Given the description of an element on the screen output the (x, y) to click on. 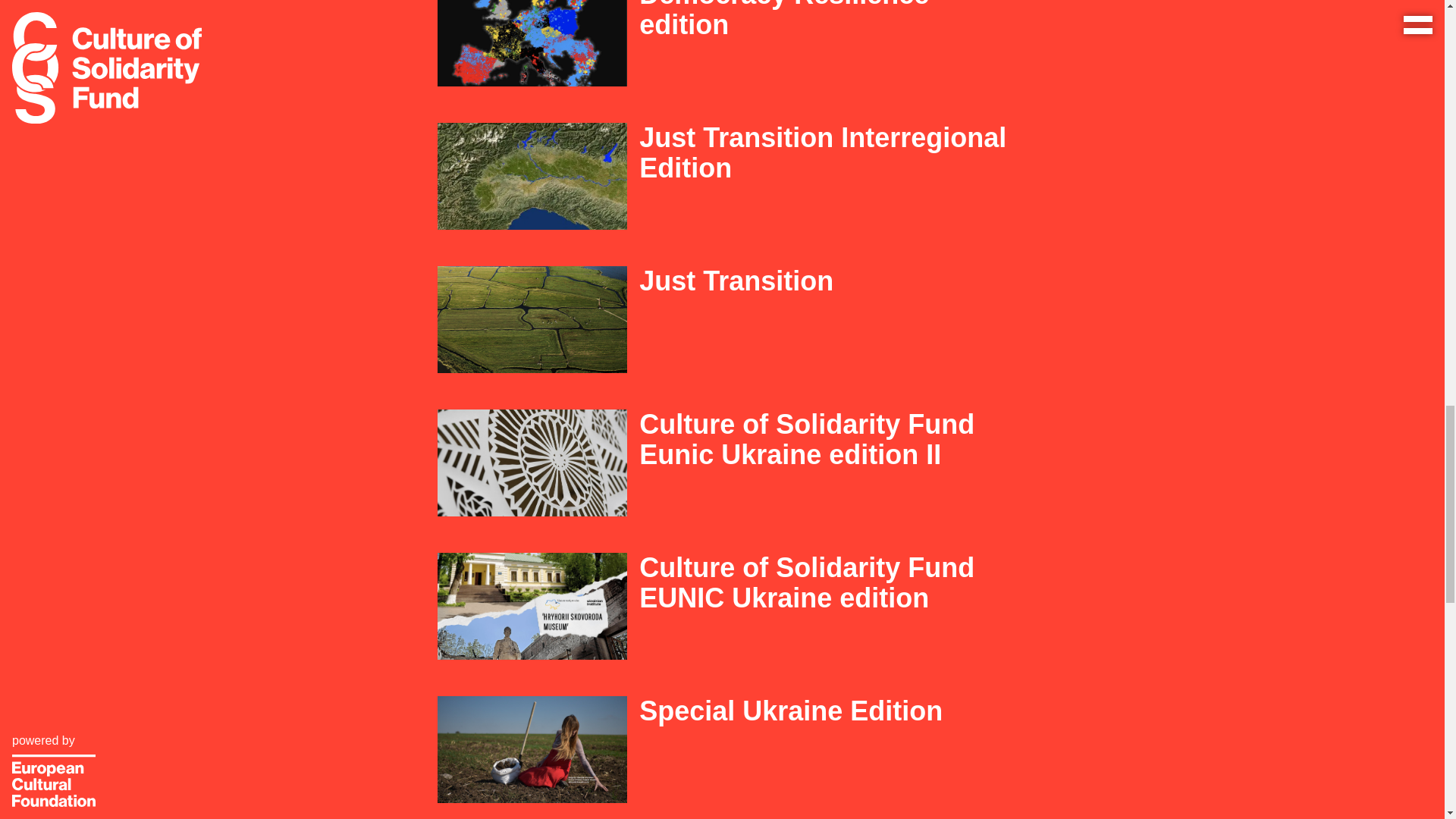
Special Ukraine Edition (823, 711)
Just Transition (823, 281)
Just Transition Interregional Edition (823, 152)
Culture of Solidarity Fund EUNIC Ukraine edition (823, 582)
Culture of Solidarity Fund Eunic Ukraine edition II (823, 439)
Democracy Resilience edition (823, 20)
